Given the description of an element on the screen output the (x, y) to click on. 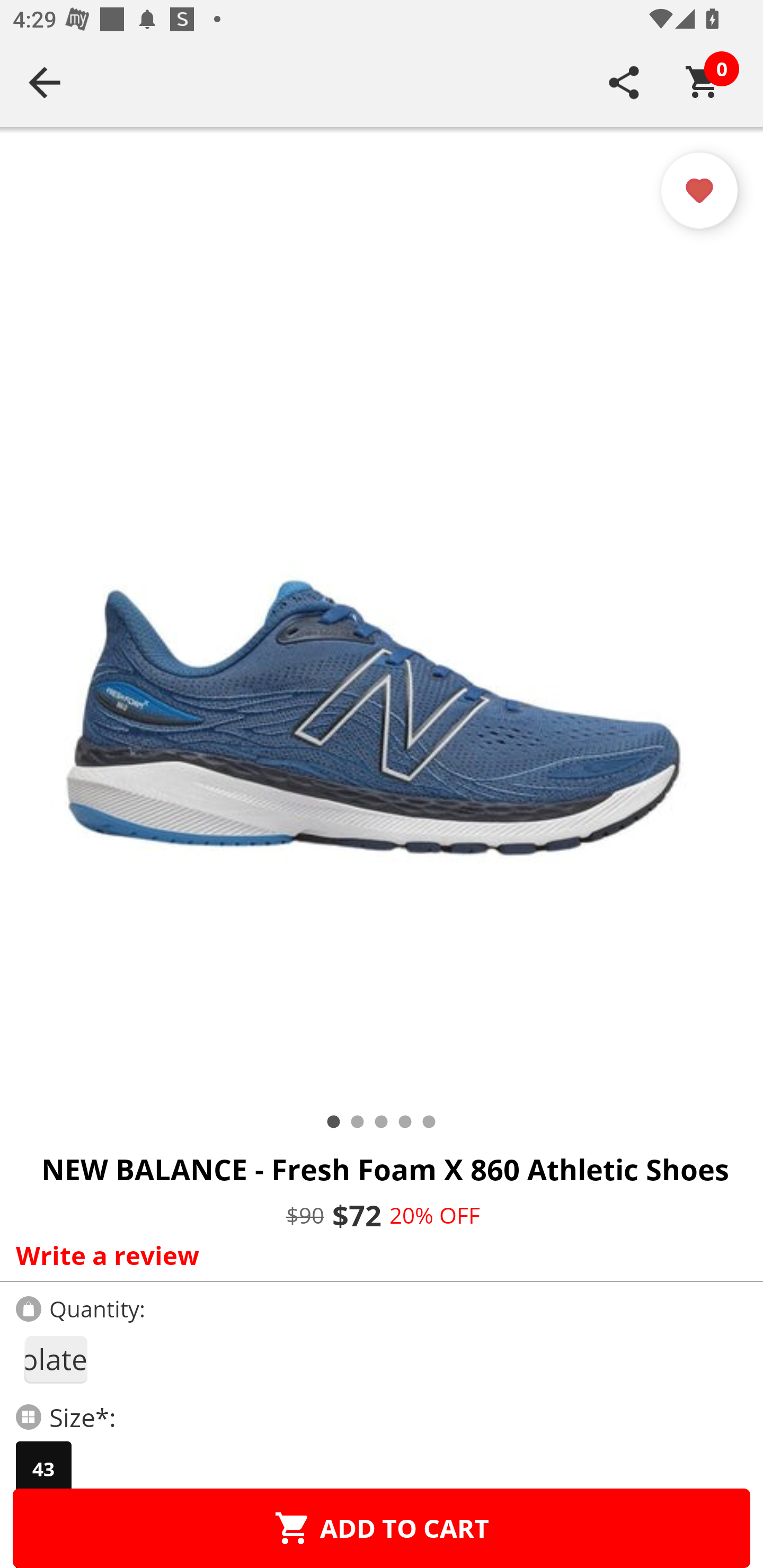
Navigate up (44, 82)
SHARE (623, 82)
Cart (703, 81)
Write a review (377, 1255)
1man shirtschocolate (55, 1358)
43 (43, 1468)
ADD TO CART (381, 1528)
